Given the description of an element on the screen output the (x, y) to click on. 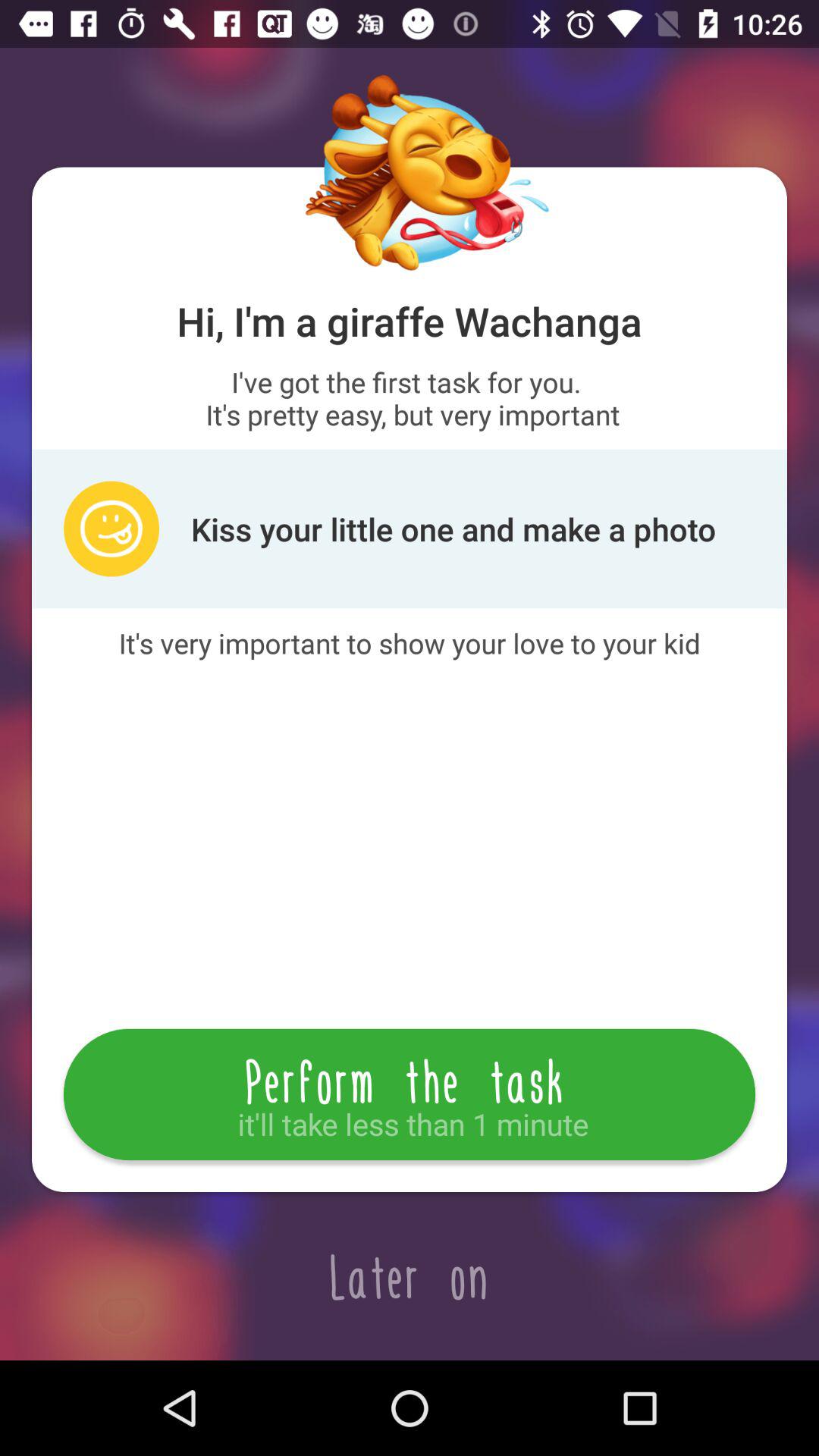
swipe until later on icon (409, 1276)
